Given the description of an element on the screen output the (x, y) to click on. 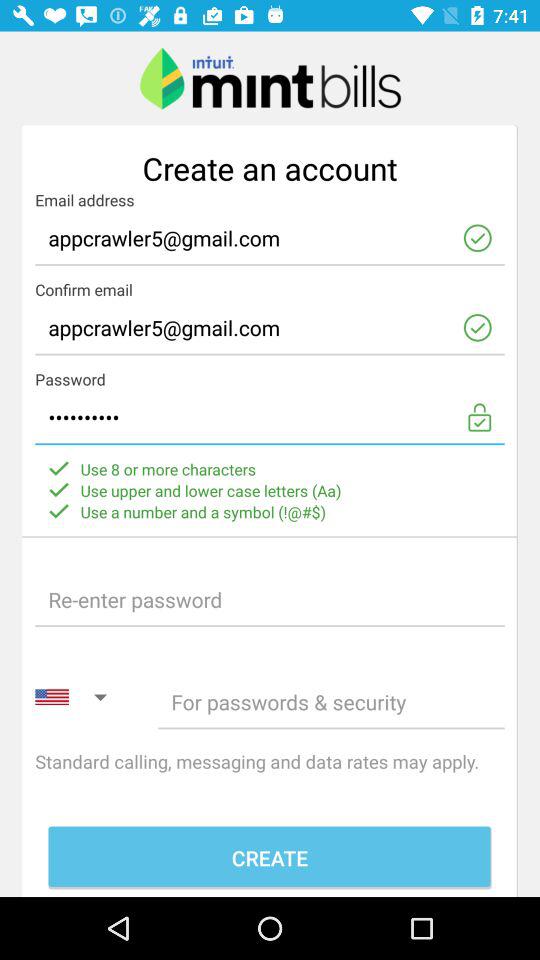
enter password (269, 599)
